Given the description of an element on the screen output the (x, y) to click on. 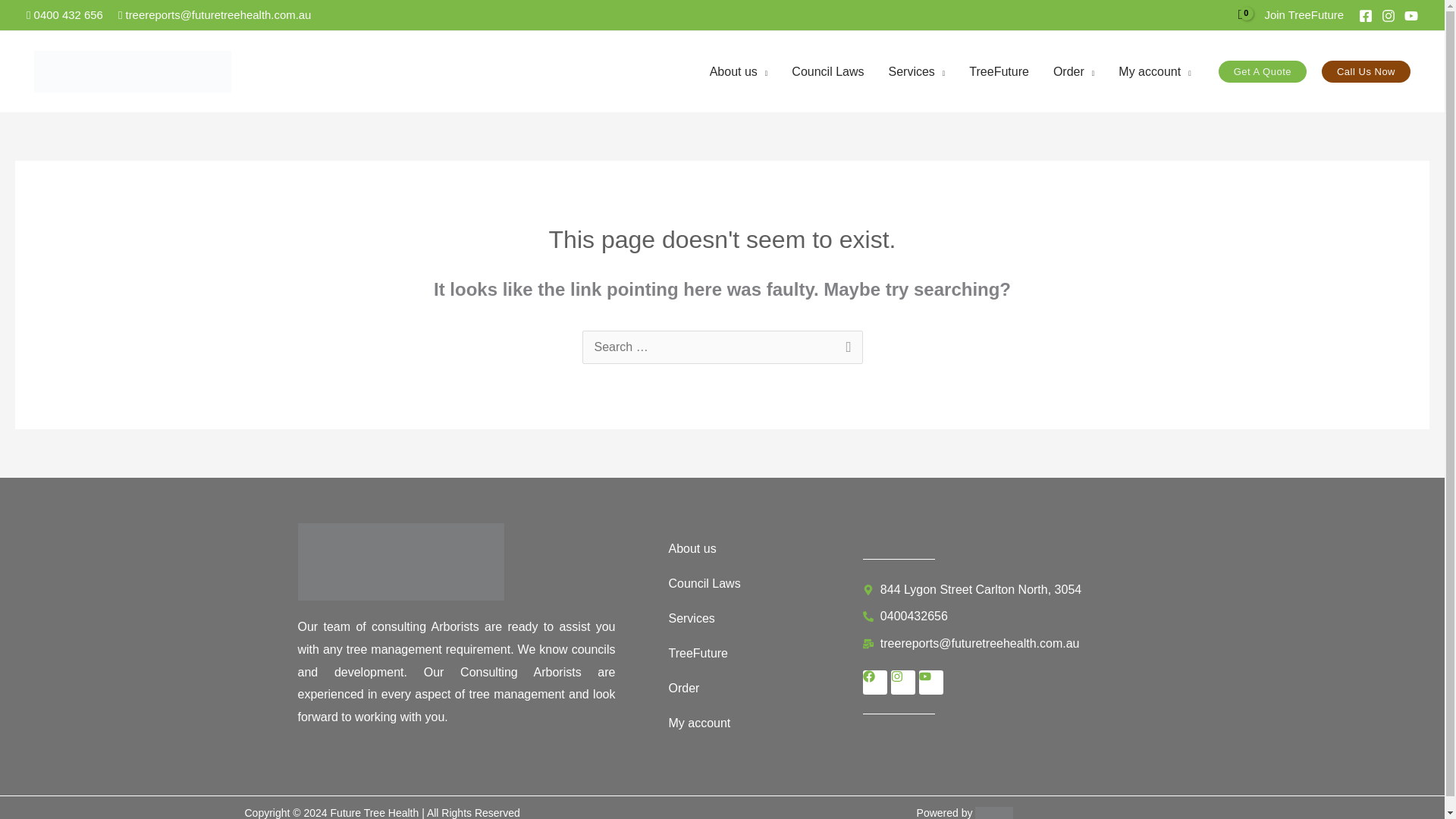
Council Laws (827, 71)
About us (738, 71)
 0400 432 656 (64, 14)
Services (916, 71)
Call Us Now (1366, 71)
Order (1073, 71)
Join TreeFuture (1303, 14)
Get A Quote (1262, 71)
TreeFuture (998, 71)
My account (1154, 71)
